Given the description of an element on the screen output the (x, y) to click on. 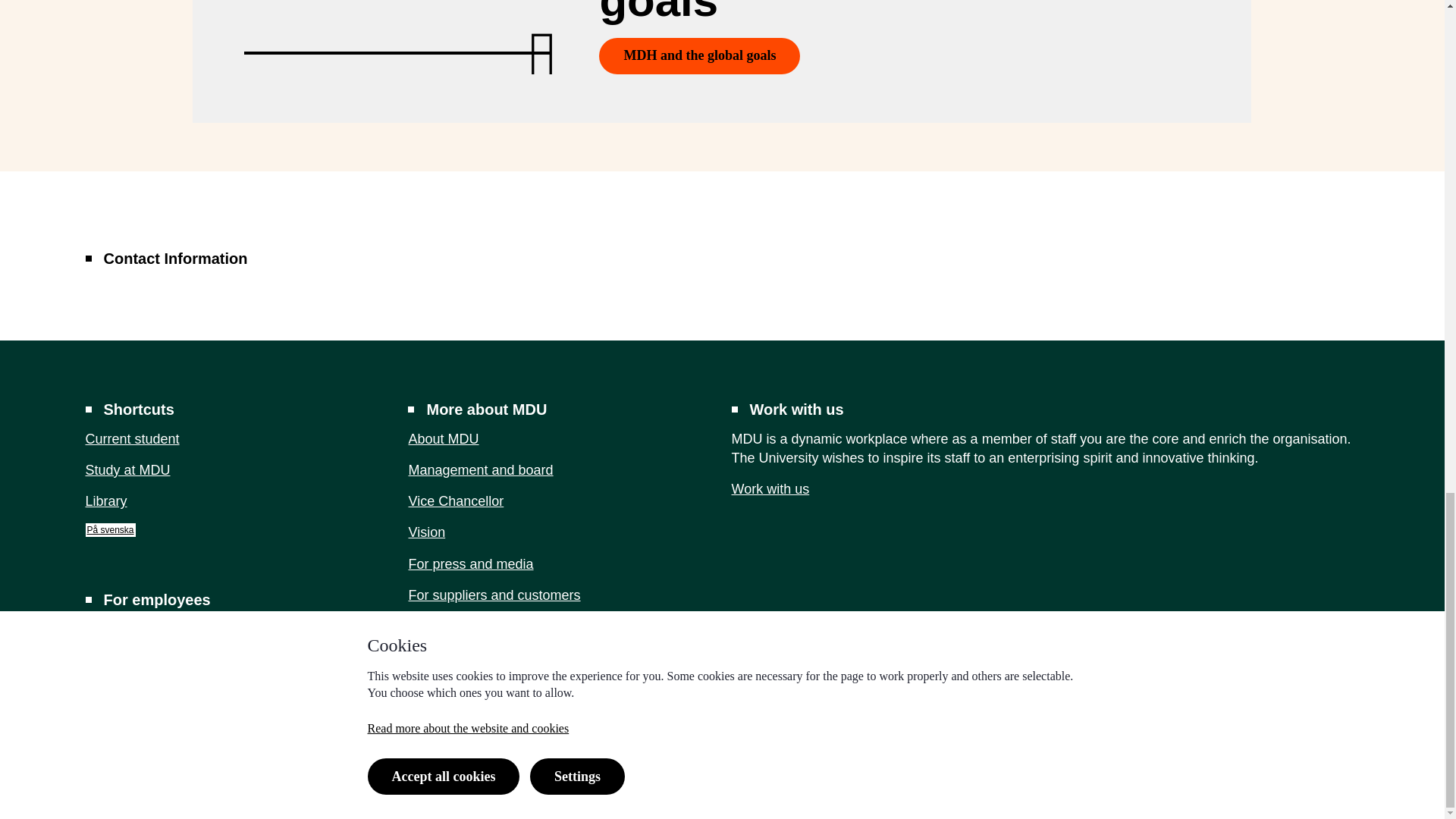
Current student (131, 438)
MDH and the global goals (698, 55)
About MDU (443, 438)
Processing of Personal Data (1256, 796)
Vice Chancellor (455, 500)
Vision (426, 531)
Management and board (480, 469)
For suppliers and customers (493, 595)
About the website and cookies (1048, 796)
For press and media (130, 629)
Managing MDU-account (469, 563)
For visitors (157, 661)
Library (440, 626)
Work with us (105, 500)
